Given the description of an element on the screen output the (x, y) to click on. 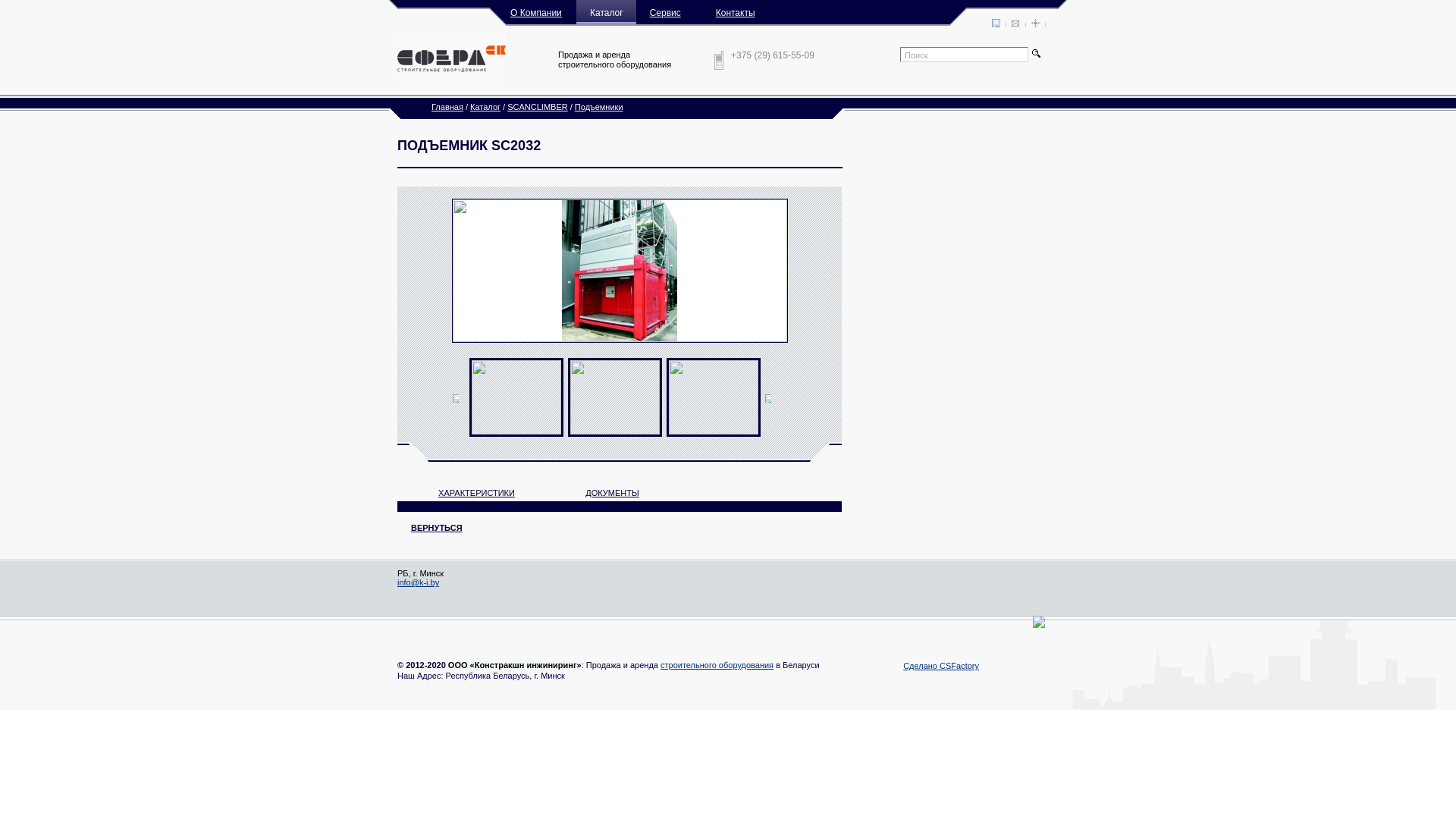
info@k-i.by Element type: text (418, 581)
SCANCLIMBER Element type: text (537, 106)
